Given the description of an element on the screen output the (x, y) to click on. 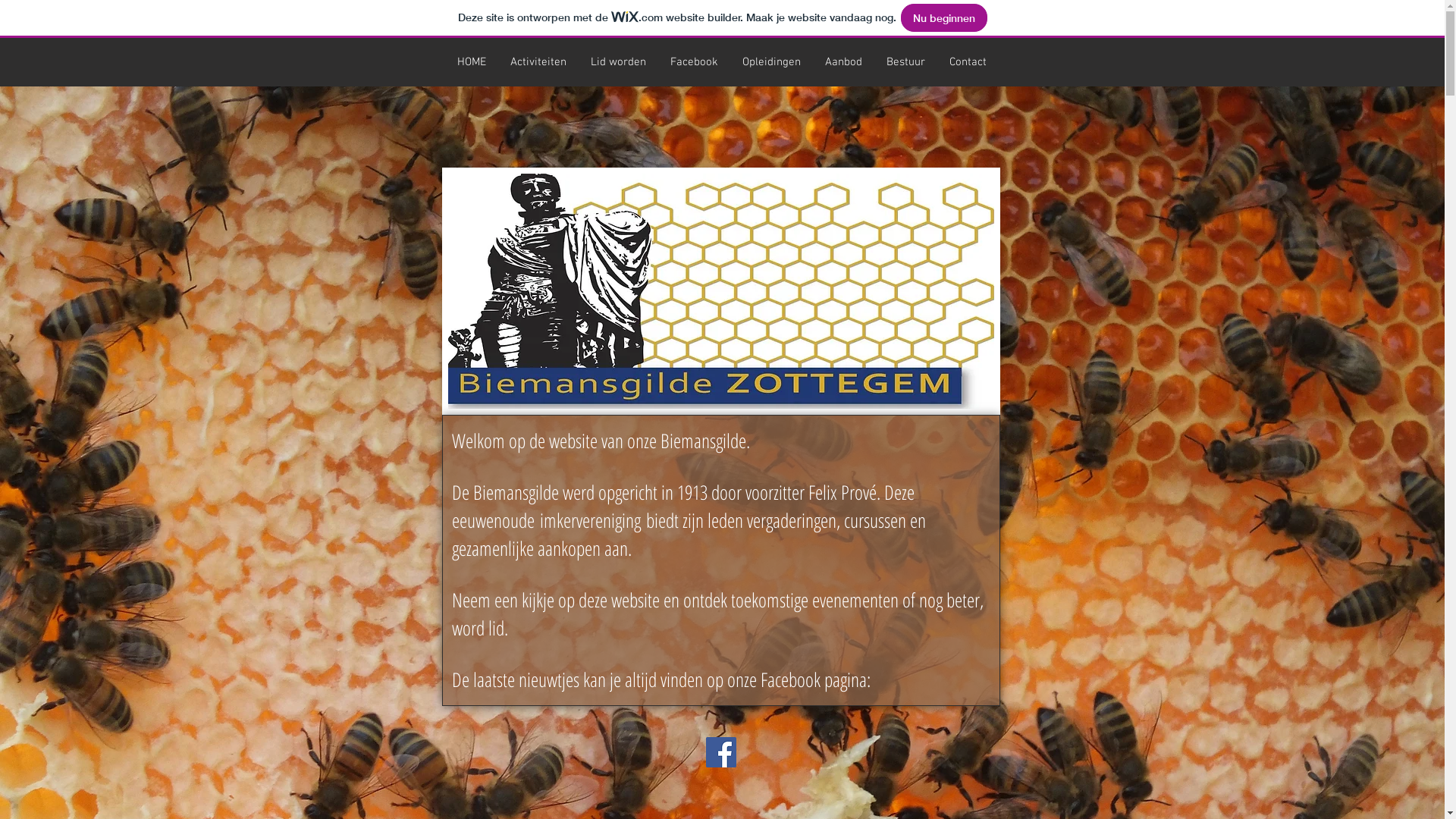
Lid worden Element type: text (617, 62)
Aanbod Element type: text (843, 62)
HOME Element type: text (470, 62)
Facebook Element type: text (694, 62)
Contact Element type: text (967, 62)
Opleidingen Element type: text (770, 62)
Bestuur Element type: text (904, 62)
Activiteiten Element type: text (537, 62)
